Given the description of an element on the screen output the (x, y) to click on. 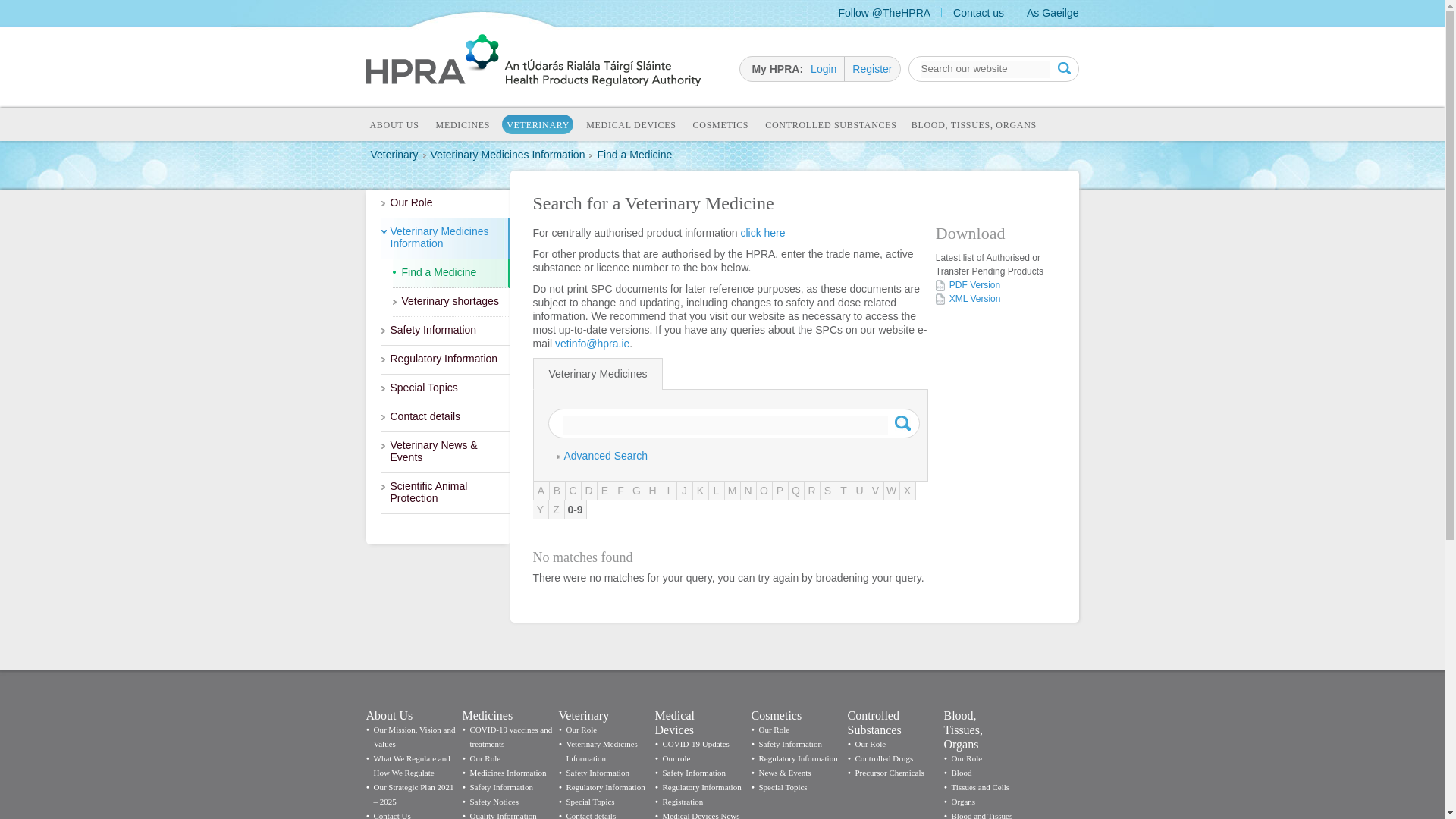
Regulatory Information (444, 359)
Veterinary shortages (452, 302)
Go to Homepage of the website (532, 82)
Contact details (444, 417)
Find a Medicine (633, 154)
Controlled Substances (829, 125)
Special Topics (444, 388)
Medicines (462, 125)
Safety Information (444, 330)
Register (871, 68)
Login (827, 68)
Veterinary Medicines Information (507, 154)
Veterinary (393, 154)
Our Role (444, 203)
BLOOD, TISSUES, ORGANS (974, 125)
